Given the description of an element on the screen output the (x, y) to click on. 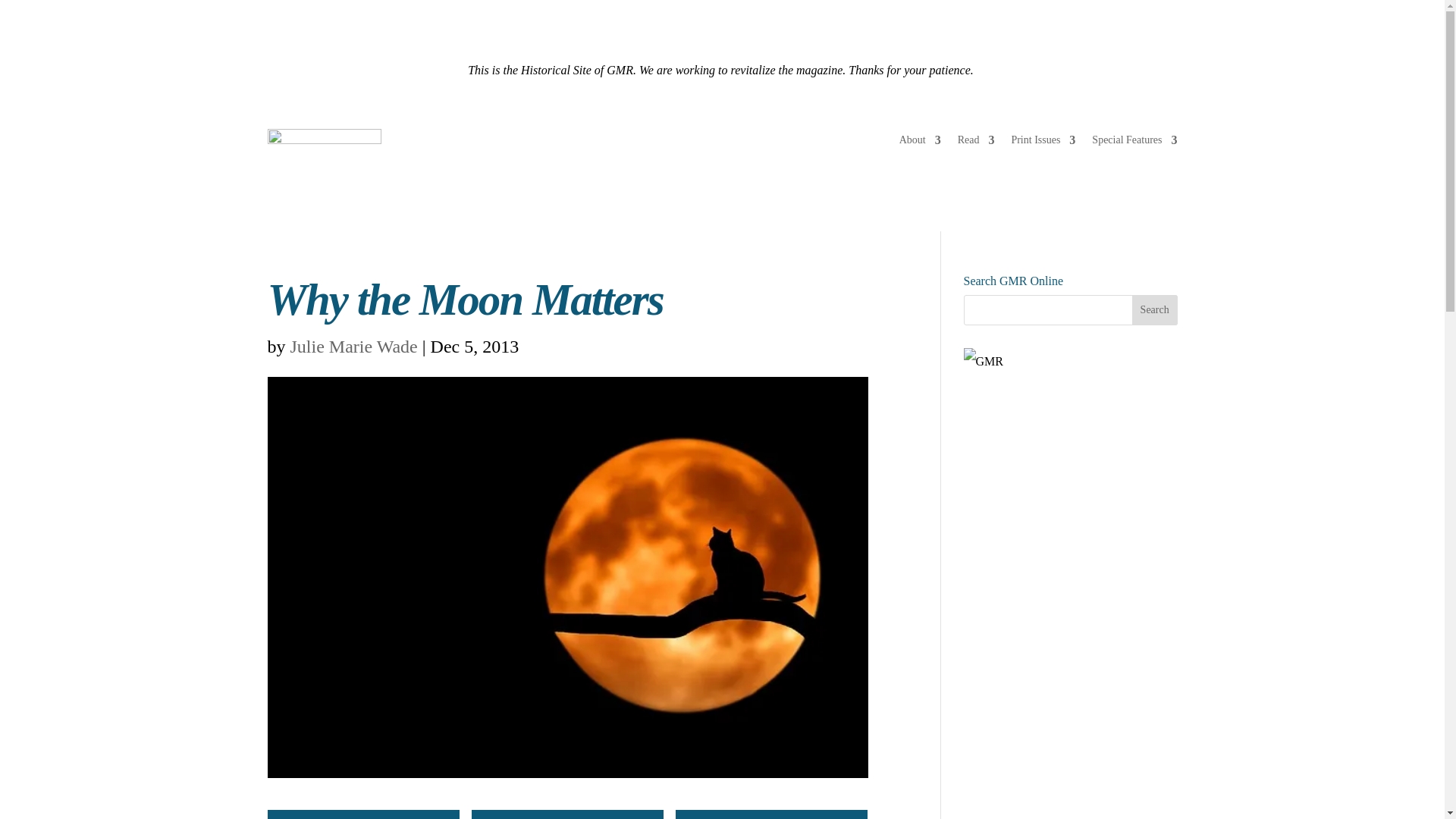
Read (976, 143)
Special Features (1134, 143)
Search (1154, 309)
Posts by Julie Marie Wade (352, 346)
GMR-Online (323, 151)
Julie Marie Wade (352, 346)
Print Issues (1042, 143)
About (919, 143)
